Given the description of an element on the screen output the (x, y) to click on. 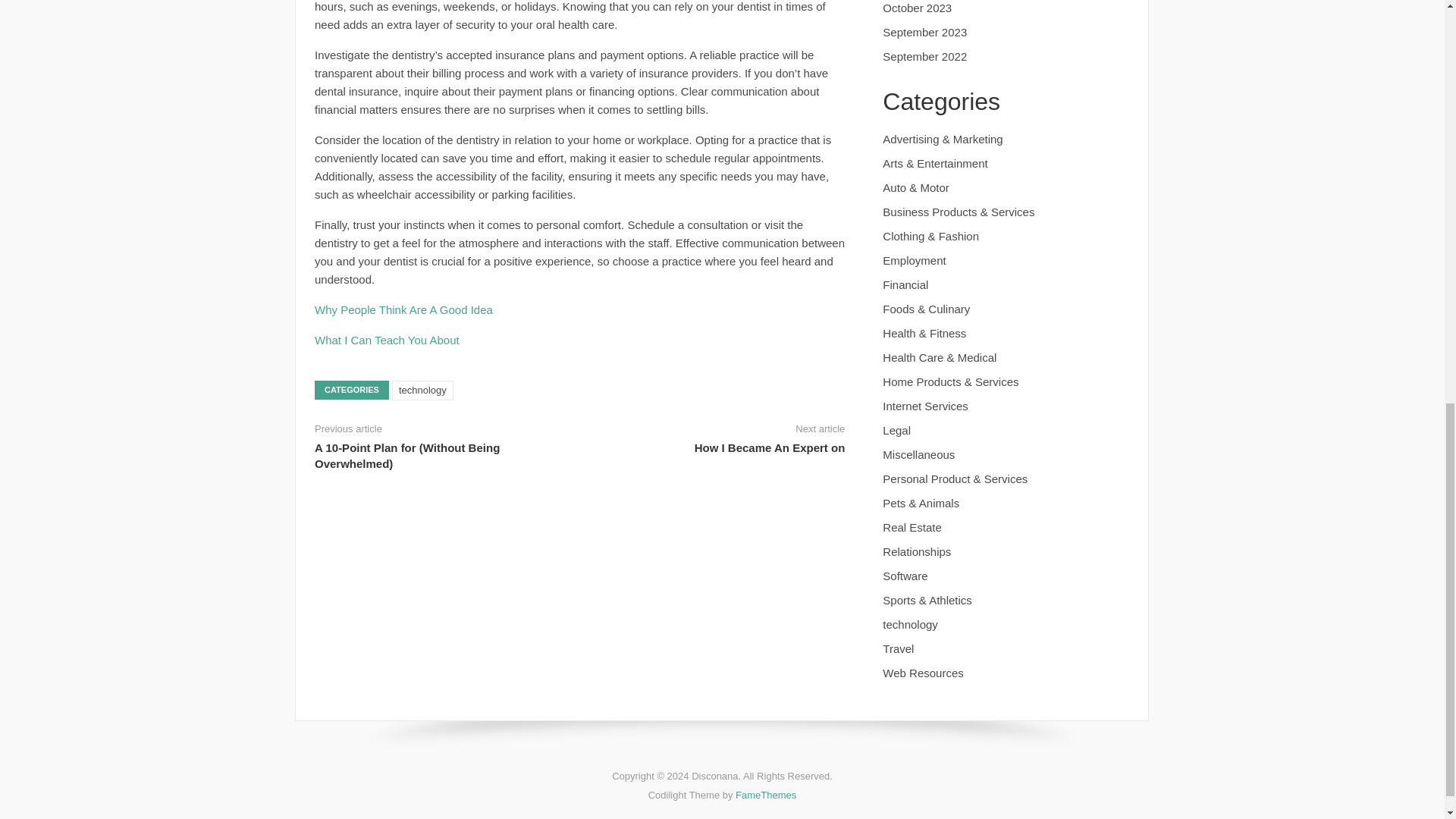
Why People Think Are A Good Idea (403, 309)
technology (421, 390)
September 2023 (924, 31)
How I Became An Expert on (769, 447)
Financial (905, 284)
September 2022 (924, 56)
What I Can Teach You About (387, 339)
October 2023 (917, 7)
Employment (913, 259)
